Given the description of an element on the screen output the (x, y) to click on. 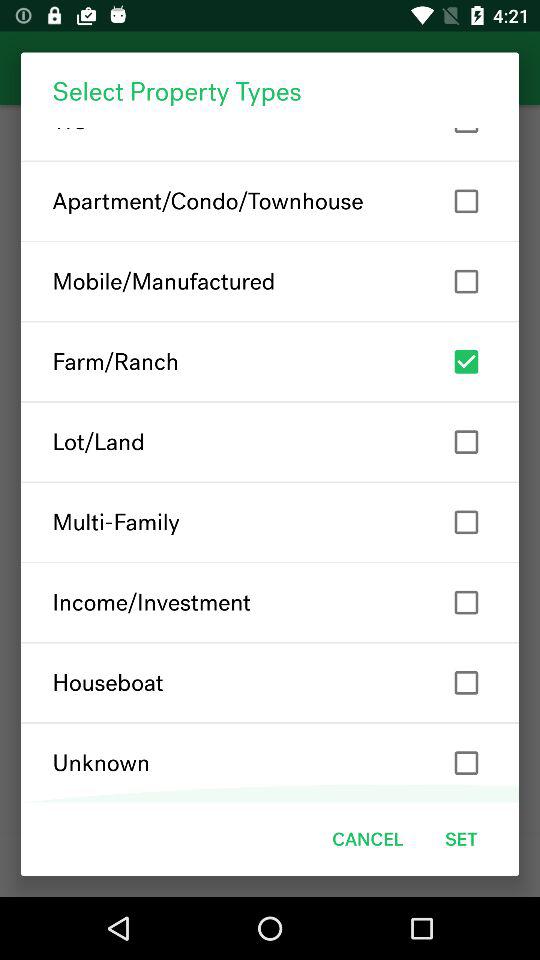
select item below houseboat (270, 762)
